Given the description of an element on the screen output the (x, y) to click on. 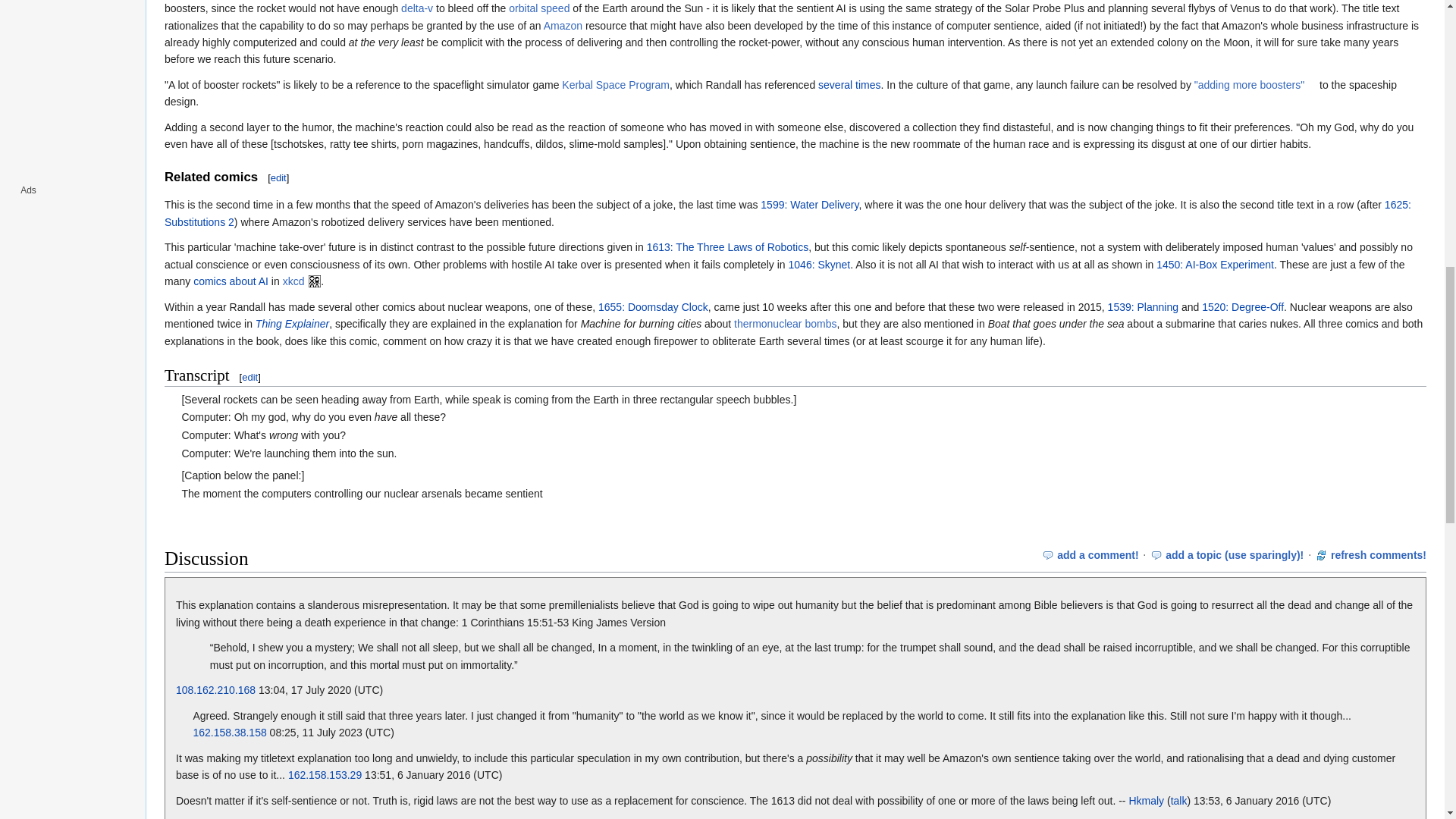
orbital speed (538, 8)
several times (849, 84)
Amazon (562, 25)
Kerbal Space Program (615, 84)
delta-v (416, 8)
